Given the description of an element on the screen output the (x, y) to click on. 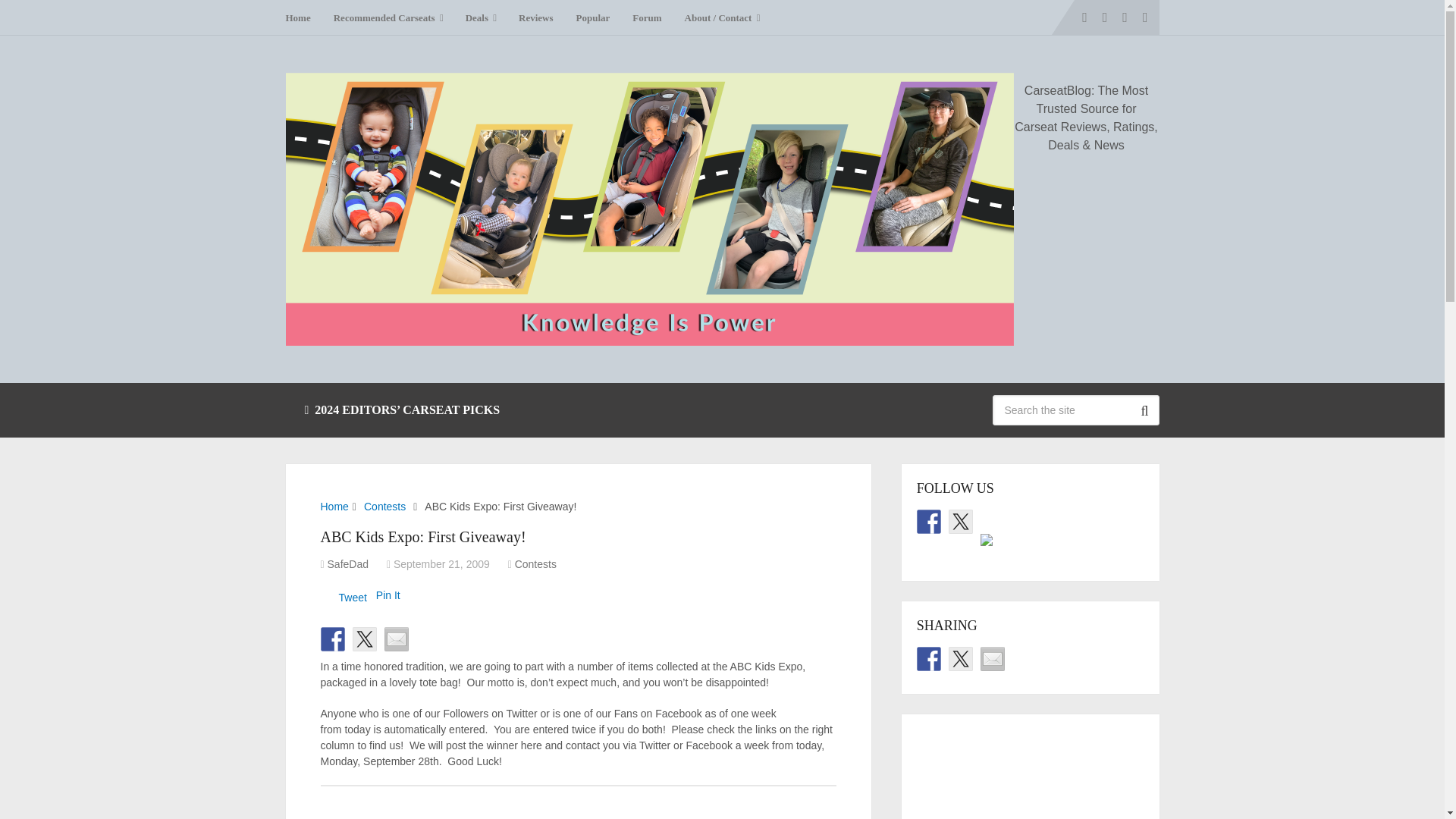
View all posts in Contests (535, 563)
Recommended Carseats (387, 17)
Deals (480, 17)
Popular (592, 17)
Pin It (387, 594)
Search (1143, 409)
Home (333, 506)
Share by email (395, 639)
Share on Twitter (363, 639)
Tweet (351, 597)
Contests (535, 563)
SafeDad (347, 563)
Forum (646, 17)
Reviews (535, 17)
Contests (385, 506)
